Given the description of an element on the screen output the (x, y) to click on. 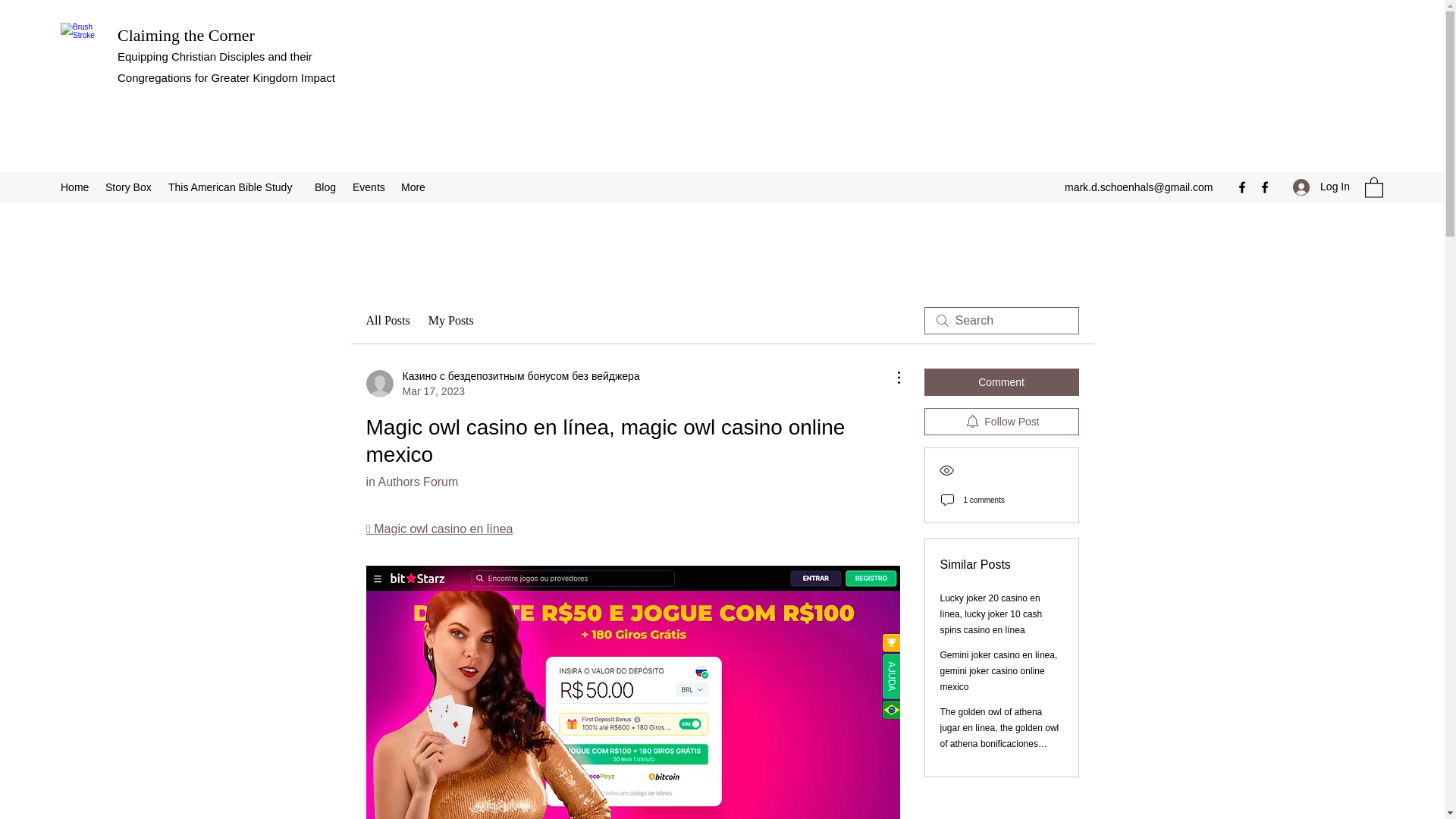
Home (74, 187)
All Posts (387, 321)
My Posts (451, 321)
Comment (1000, 381)
in Authors Forum (411, 481)
Follow Post (1000, 420)
This American Bible Study (233, 187)
Log In (1320, 186)
Blog (326, 187)
Story Box (128, 187)
Events (369, 187)
